Given the description of an element on the screen output the (x, y) to click on. 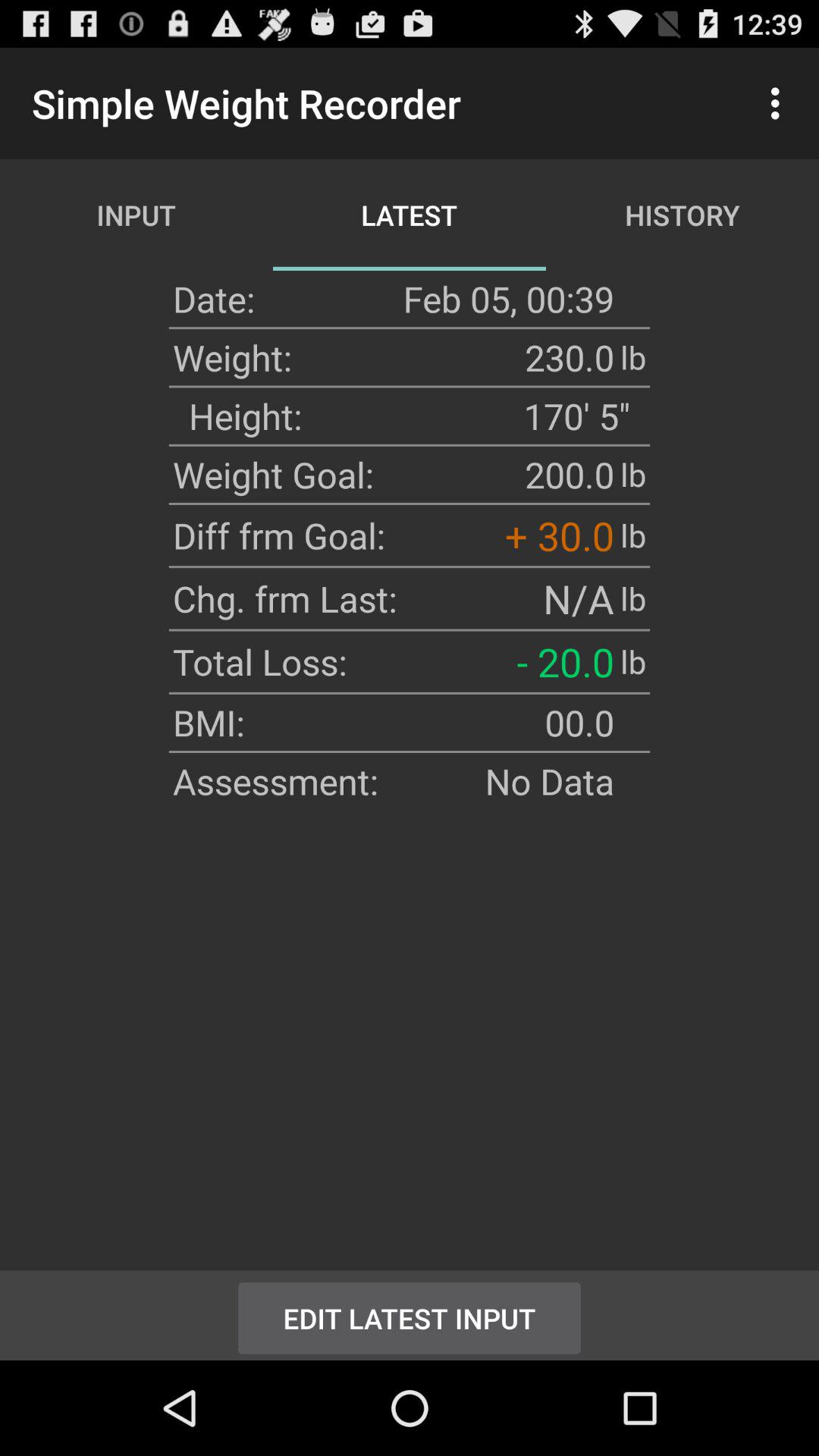
turn on the icon at the bottom (409, 1315)
